Given the description of an element on the screen output the (x, y) to click on. 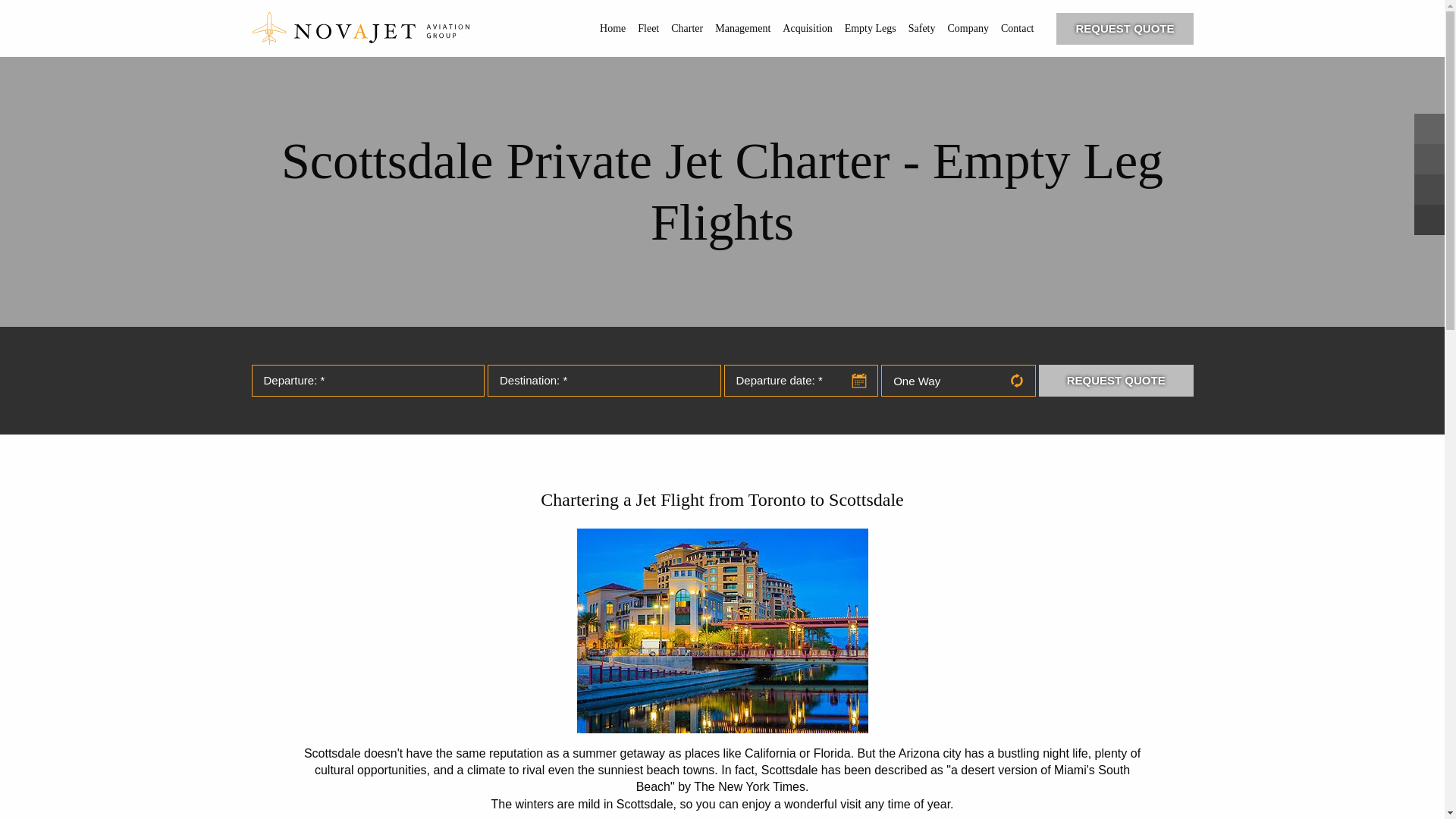
Fleet (648, 28)
REQUEST QUOTE (1124, 29)
Company (967, 28)
Empty Legs (870, 28)
Home (612, 28)
Acquisition (807, 28)
Contact (1017, 28)
Safety (922, 28)
Charter (687, 28)
Management (742, 28)
